Given the description of an element on the screen output the (x, y) to click on. 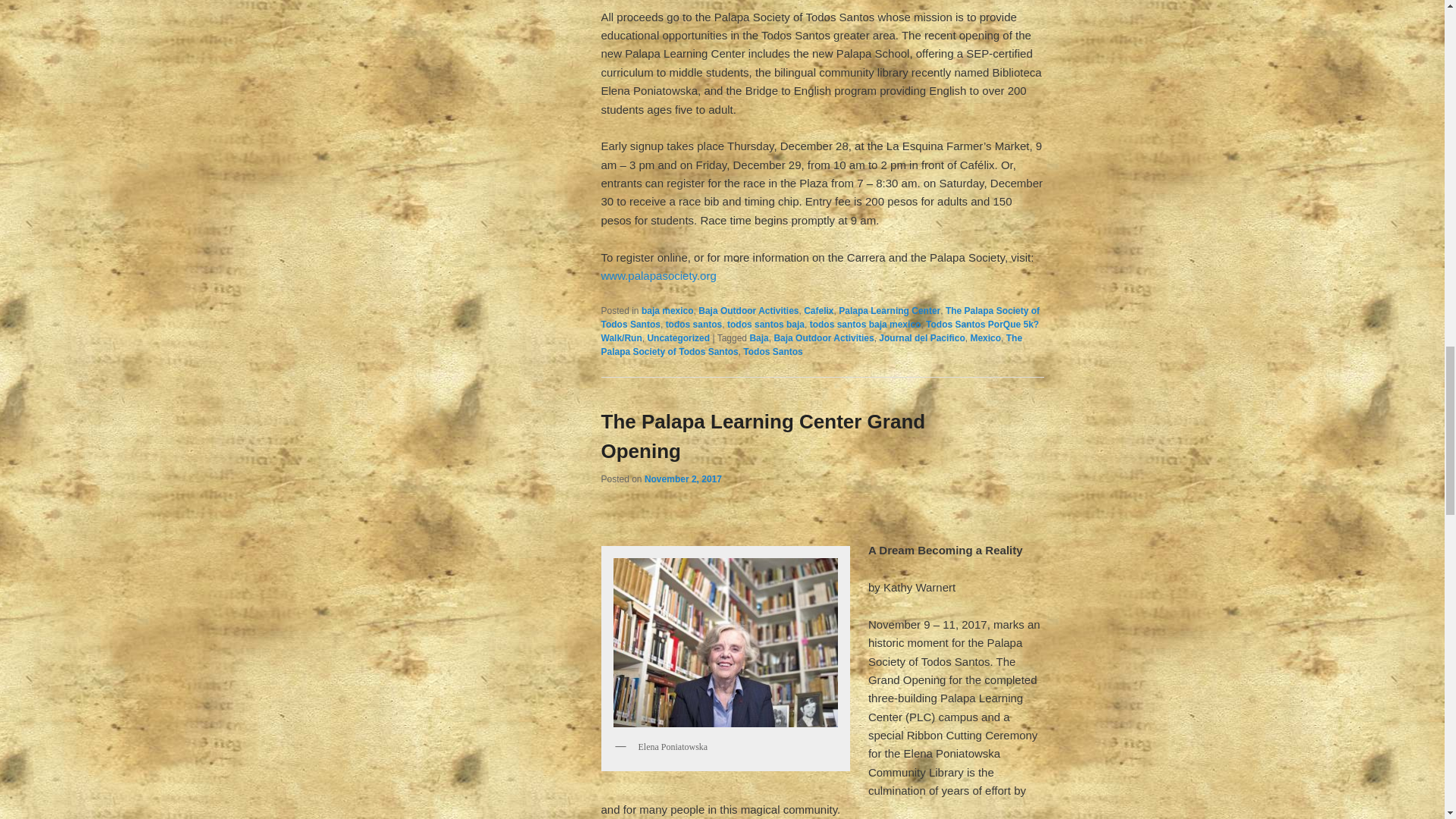
1:20 pm (683, 479)
